Given the description of an element on the screen output the (x, y) to click on. 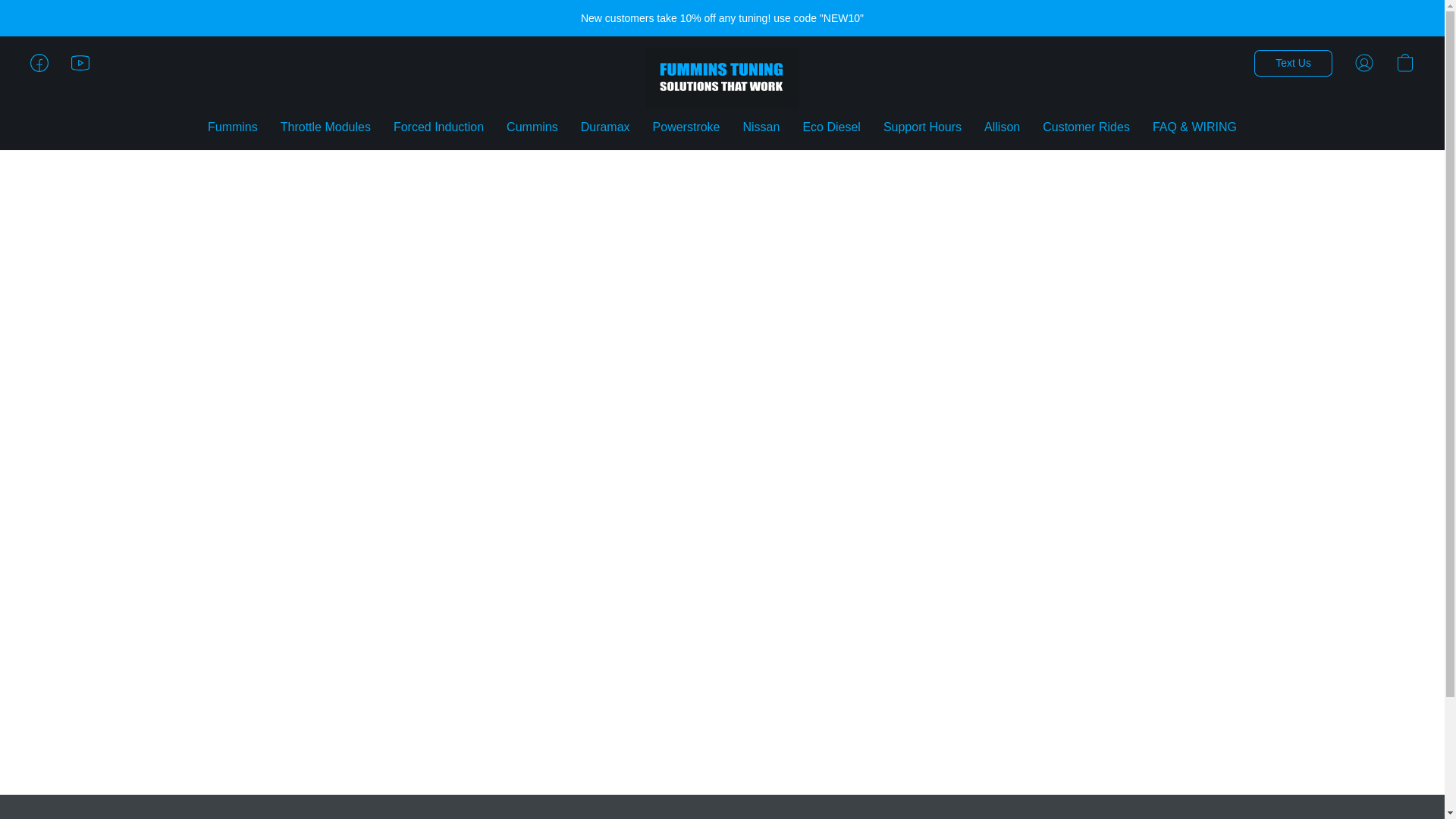
Text Us (1292, 62)
Powerstroke (687, 127)
Cummins (532, 127)
Nissan (760, 127)
Throttle Modules (325, 127)
Support Hours (922, 127)
Allison (1001, 127)
Go to your shopping cart (1404, 62)
Forced Induction (438, 127)
Eco Diesel (830, 127)
Duramax (605, 127)
Customer Rides (1085, 127)
Fummins (238, 127)
